Given the description of an element on the screen output the (x, y) to click on. 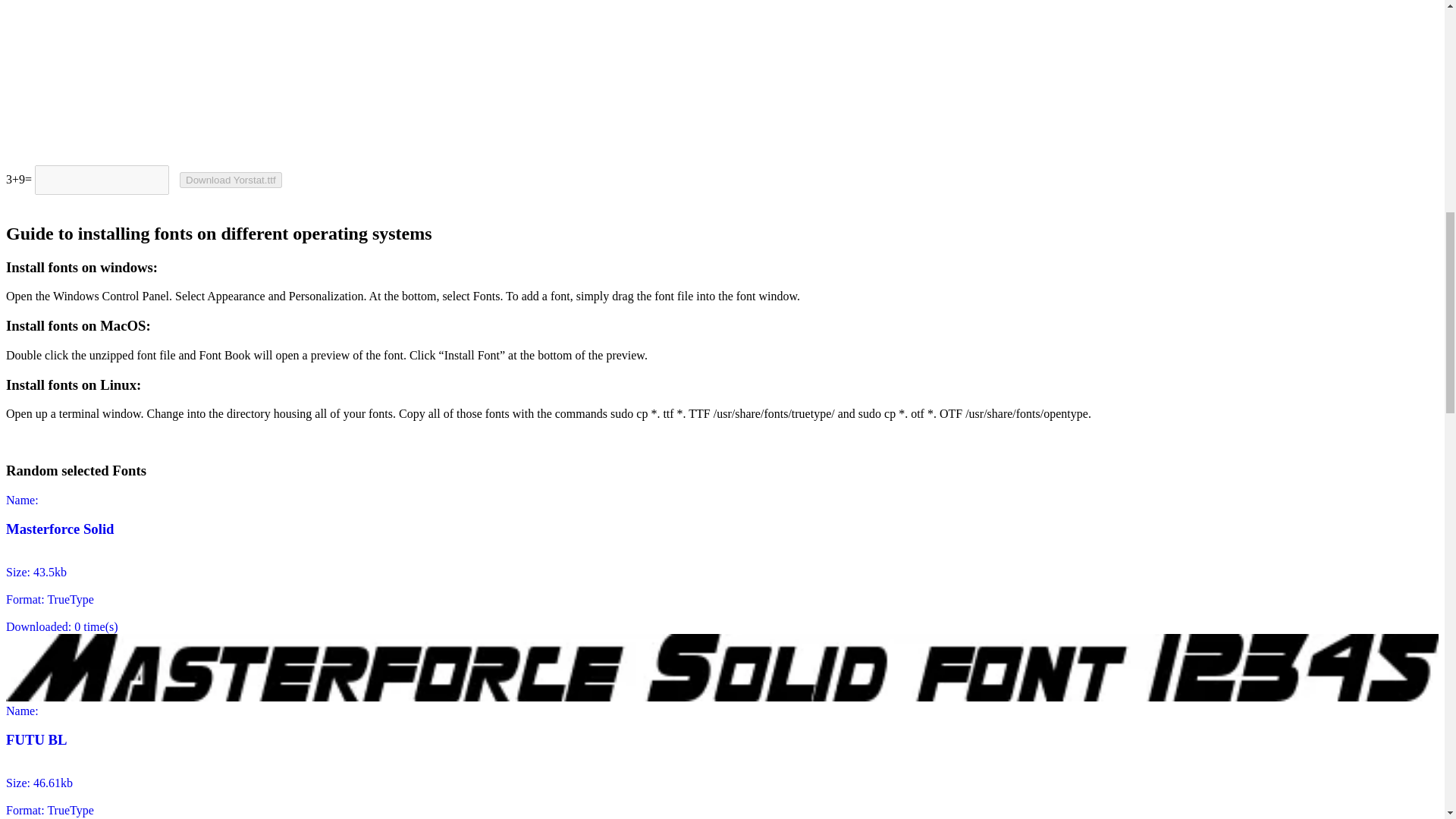
Download Yorstat.ttf (230, 179)
Download Yorstat.ttf (230, 179)
